Given the description of an element on the screen output the (x, y) to click on. 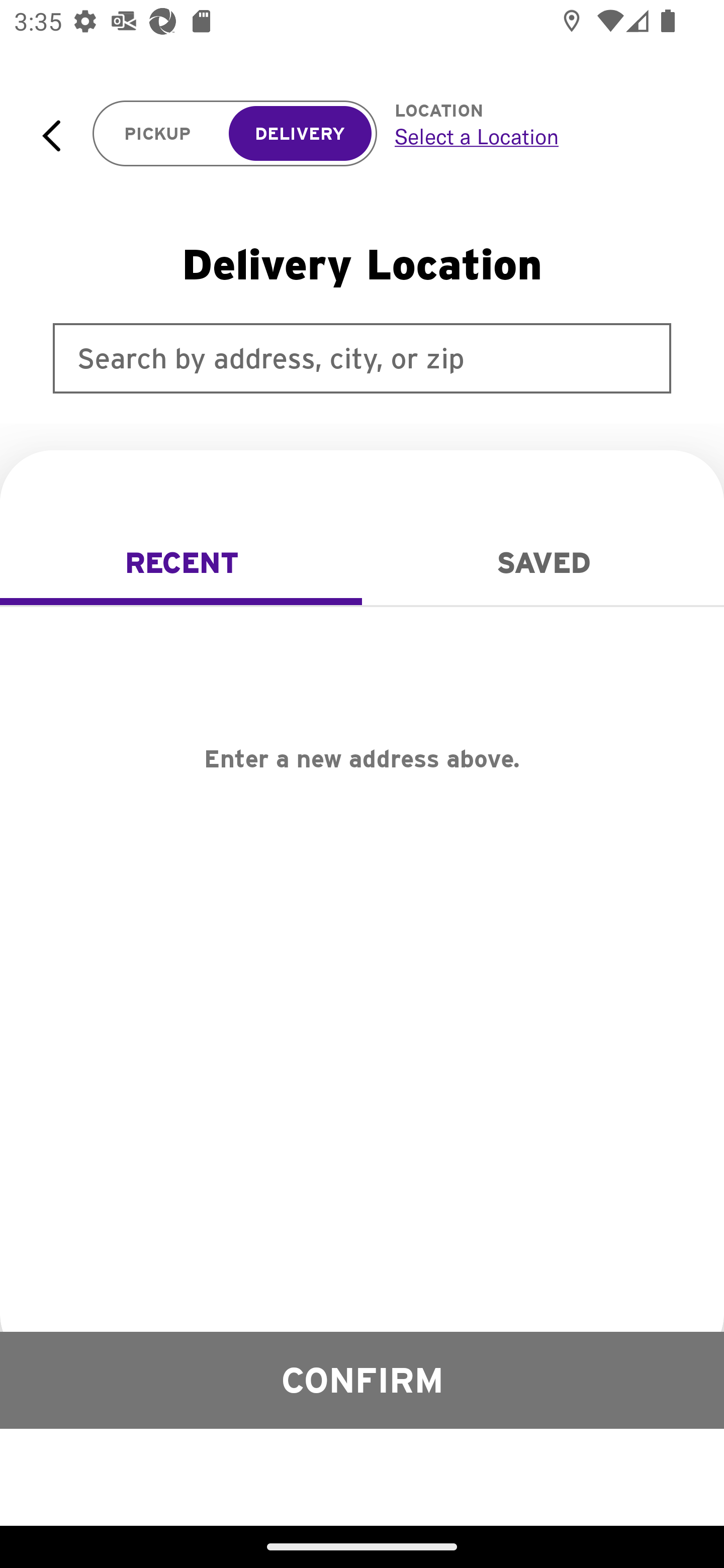
PICKUP (157, 133)
DELIVERY (299, 133)
Select a Location (536, 136)
Search by address, city, or zip (361, 358)
Saved SAVED (543, 562)
CONFIRM (362, 1379)
